Given the description of an element on the screen output the (x, y) to click on. 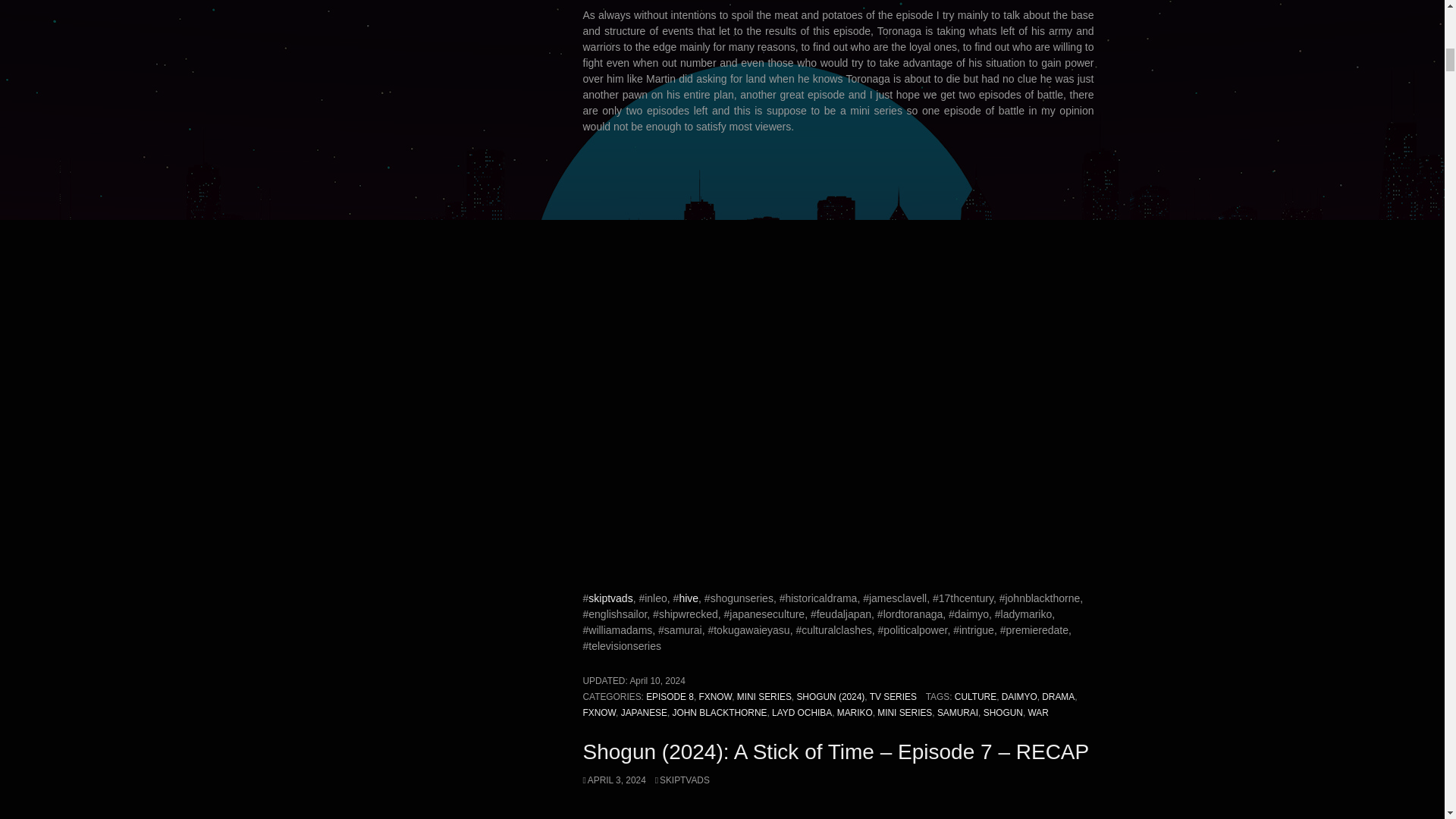
hive (688, 598)
YouTube video player (838, 344)
skiptvads (609, 598)
